Given the description of an element on the screen output the (x, y) to click on. 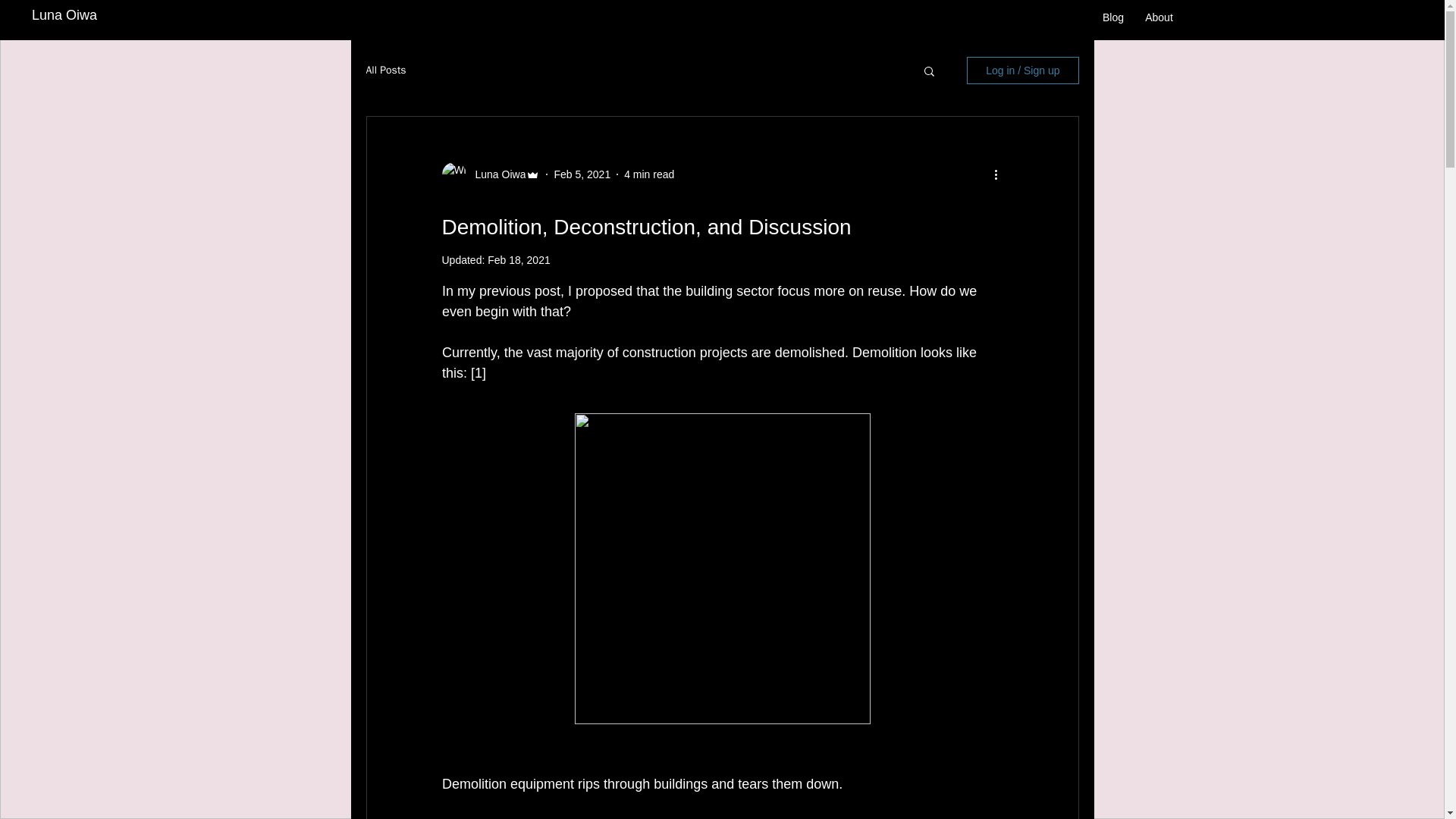
Luna Oiwa (495, 174)
Blog (1113, 17)
4 min read (649, 174)
Feb 18, 2021 (518, 259)
About (1158, 17)
Luna Oiwa (64, 14)
All Posts (385, 69)
Feb 5, 2021 (581, 174)
